Given the description of an element on the screen output the (x, y) to click on. 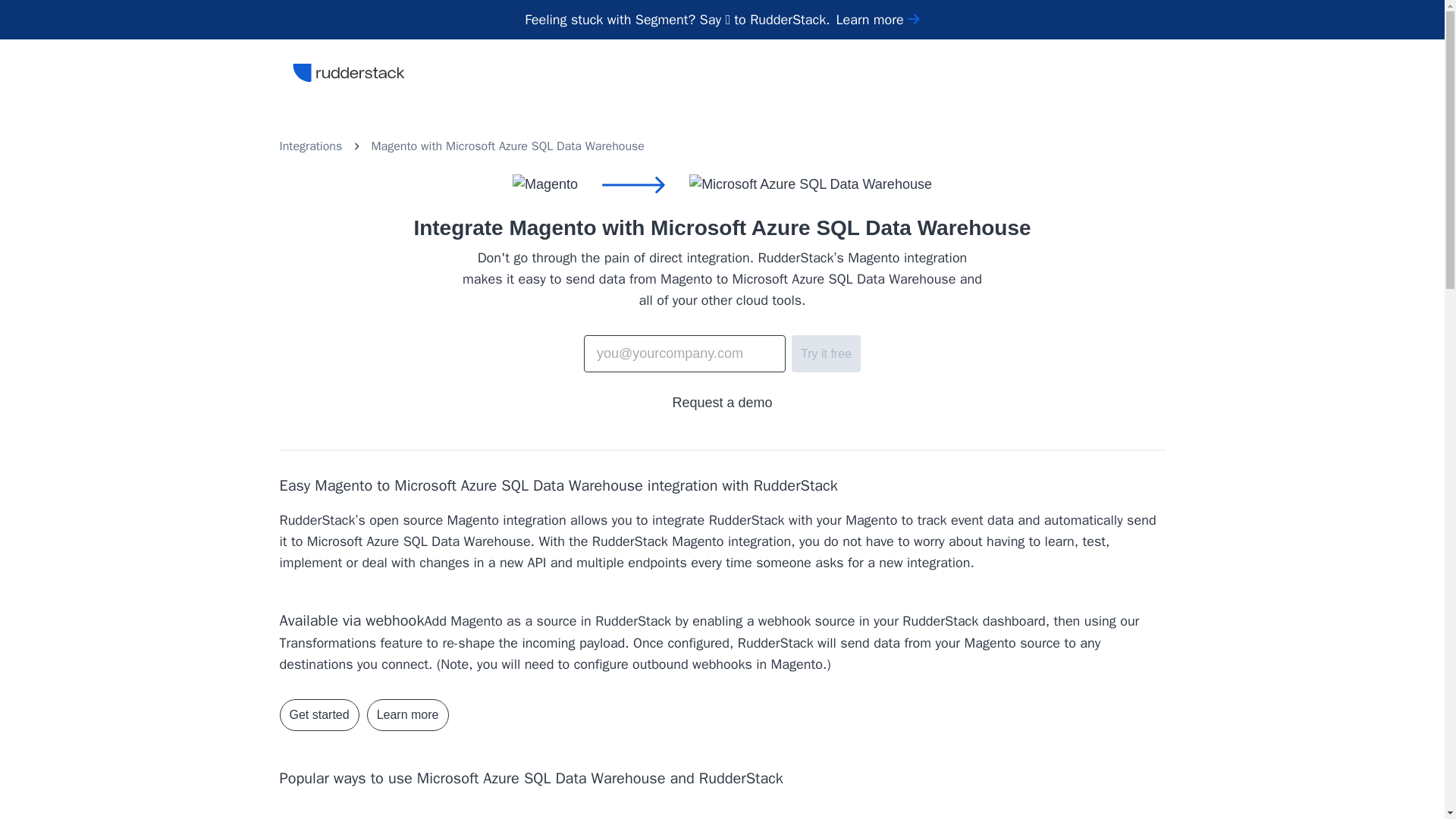
Microsoft Azure SQL Data Warehouse (545, 145)
Request a demo (721, 403)
Learn more (877, 19)
Try it free (826, 353)
Magento (394, 145)
Get started (318, 715)
Integrations (310, 145)
Learn more (407, 715)
